Given the description of an element on the screen output the (x, y) to click on. 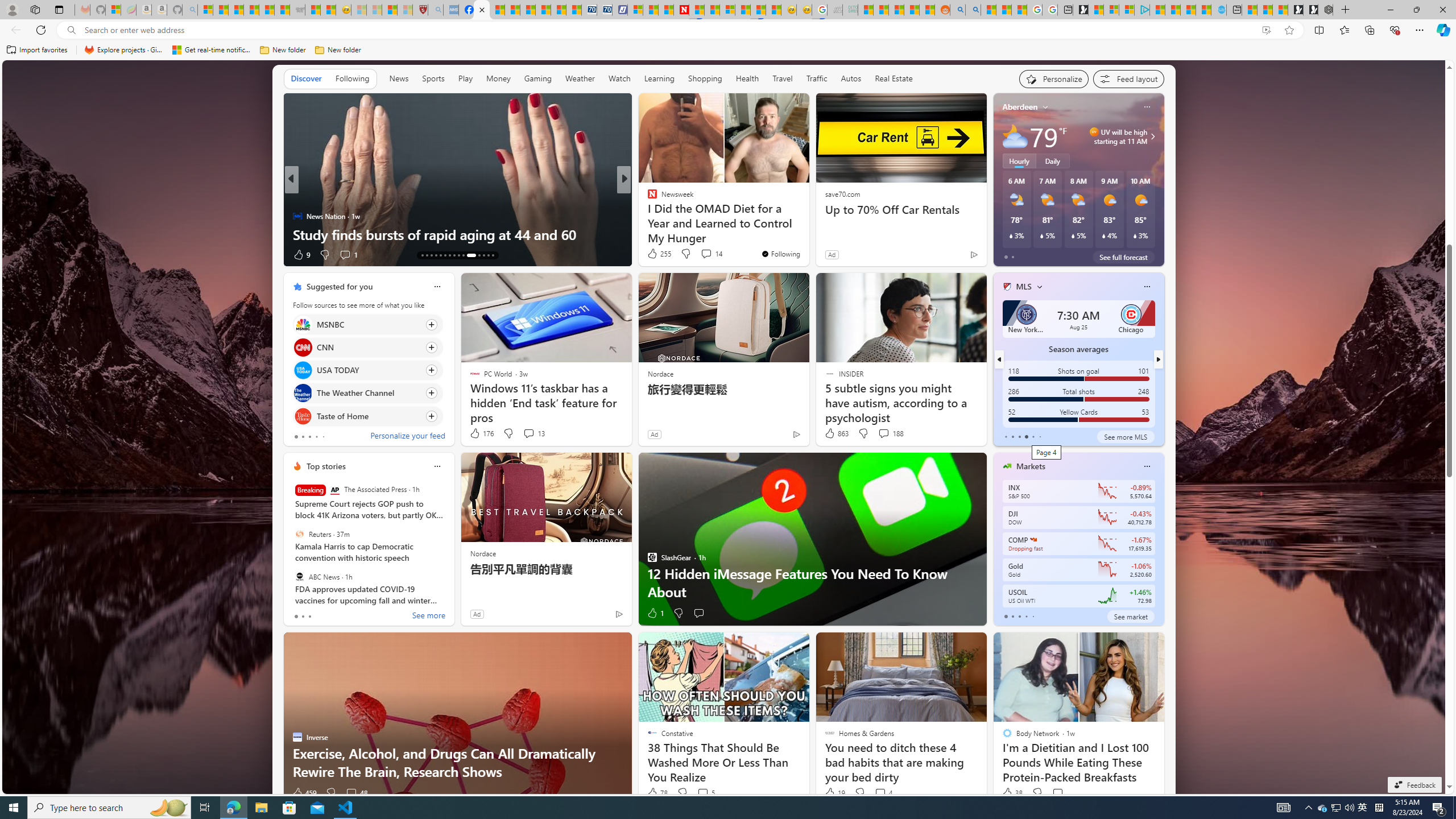
See market (1130, 616)
78 Like (657, 792)
New folder (337, 49)
View comments 114 Comment (703, 254)
Click to follow source USA TODAY (367, 370)
Top stories (325, 466)
View comments 4 Comment (882, 792)
Robert H. Shmerling, MD - Harvard Health (419, 9)
